Given the description of an element on the screen output the (x, y) to click on. 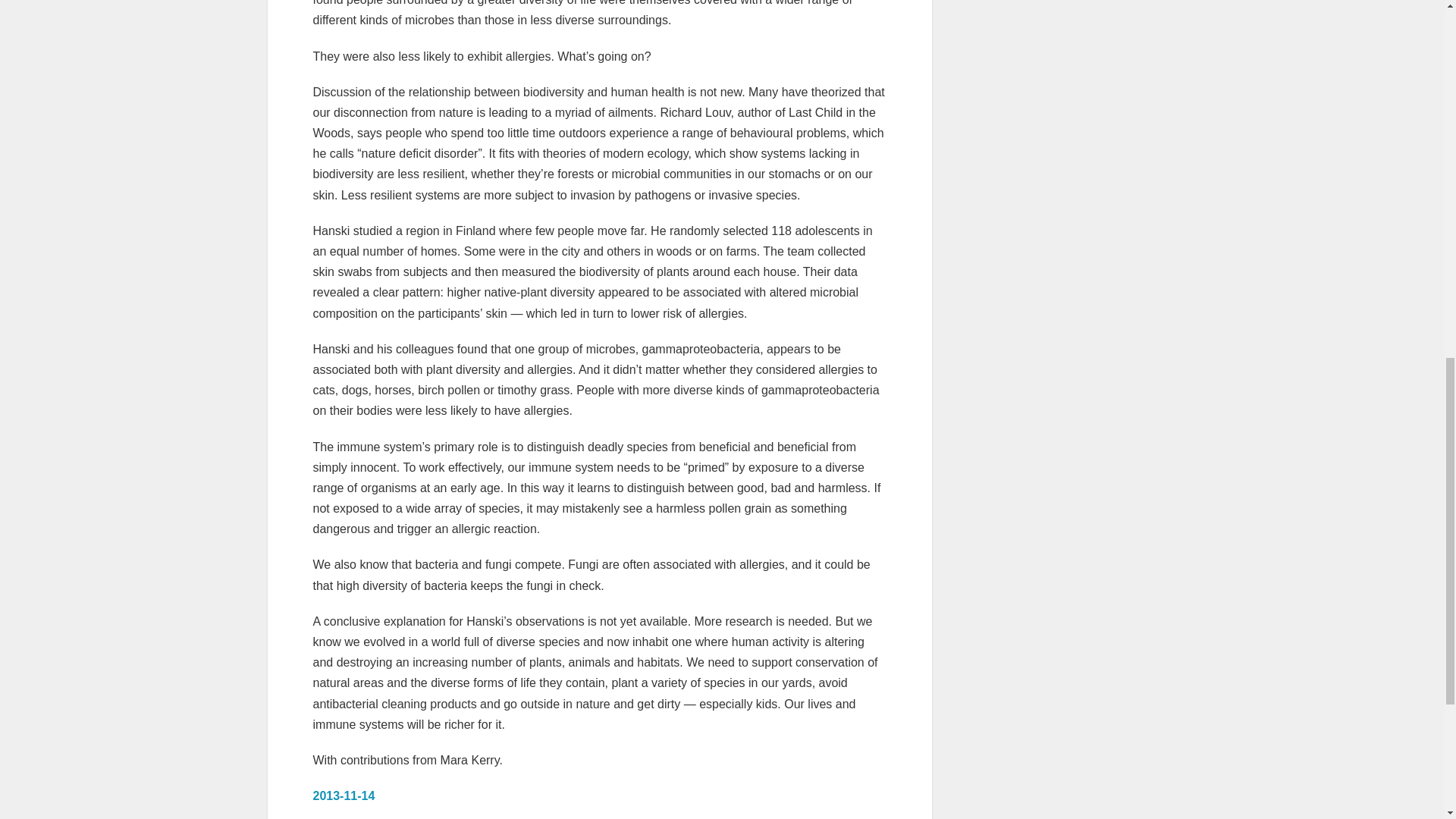
2013-11-14 (343, 795)
